Given the description of an element on the screen output the (x, y) to click on. 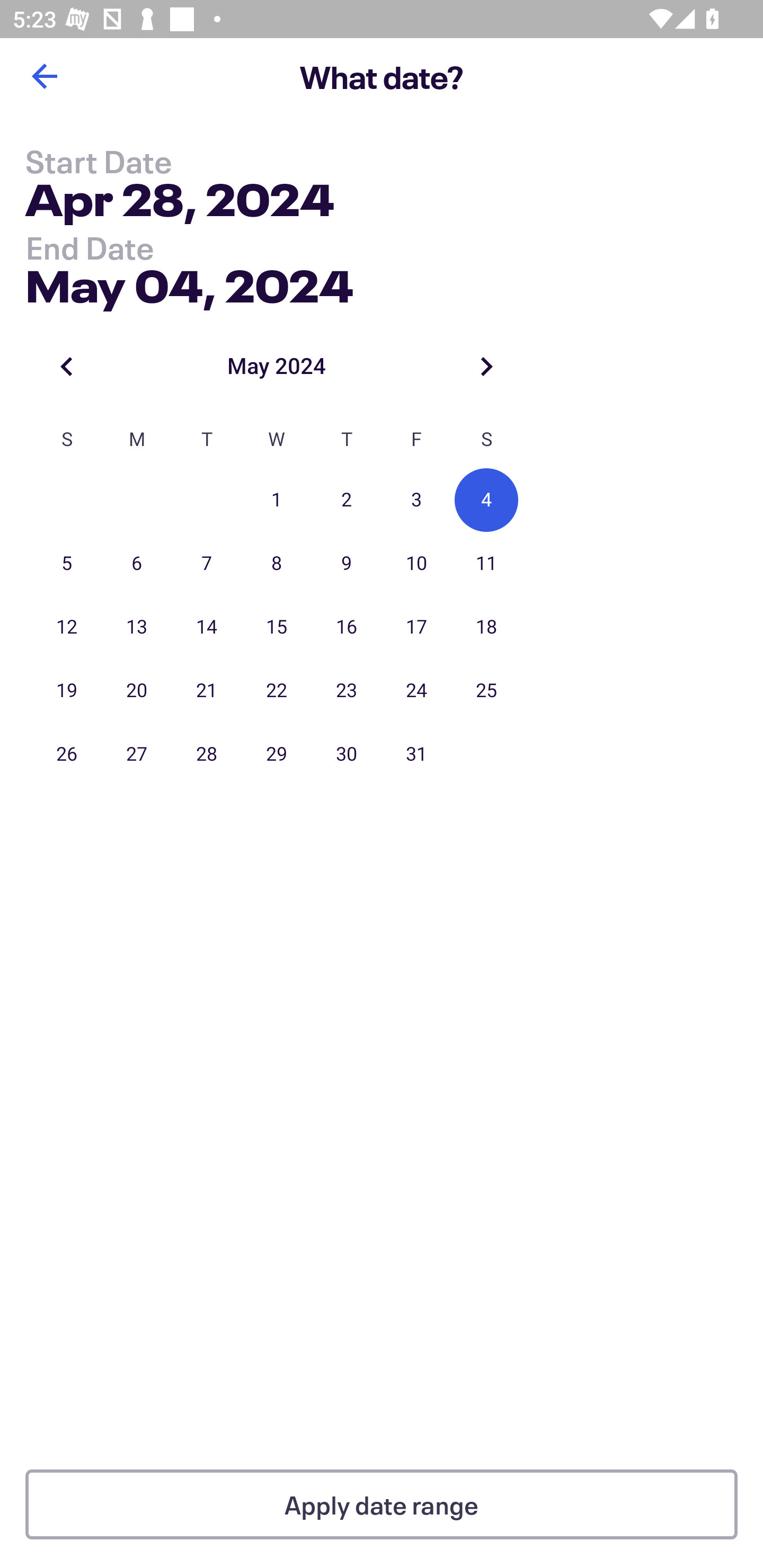
Back button (44, 75)
Apr 28, 2024 (179, 203)
May 04, 2024 (189, 282)
Previous month (66, 365)
Next month (486, 365)
1 01 May 2024 (276, 499)
2 02 May 2024 (346, 499)
3 03 May 2024 (416, 499)
4 04 May 2024 (486, 499)
5 05 May 2024 (66, 563)
6 06 May 2024 (136, 563)
7 07 May 2024 (206, 563)
8 08 May 2024 (276, 563)
9 09 May 2024 (346, 563)
10 10 May 2024 (416, 563)
11 11 May 2024 (486, 563)
12 12 May 2024 (66, 626)
13 13 May 2024 (136, 626)
14 14 May 2024 (206, 626)
15 15 May 2024 (276, 626)
16 16 May 2024 (346, 626)
17 17 May 2024 (416, 626)
18 18 May 2024 (486, 626)
19 19 May 2024 (66, 690)
20 20 May 2024 (136, 690)
21 21 May 2024 (206, 690)
22 22 May 2024 (276, 690)
23 23 May 2024 (346, 690)
24 24 May 2024 (416, 690)
25 25 May 2024 (486, 690)
26 26 May 2024 (66, 753)
27 27 May 2024 (136, 753)
28 28 May 2024 (206, 753)
29 29 May 2024 (276, 753)
30 30 May 2024 (346, 753)
31 31 May 2024 (416, 753)
Apply date range (381, 1504)
